Given the description of an element on the screen output the (x, y) to click on. 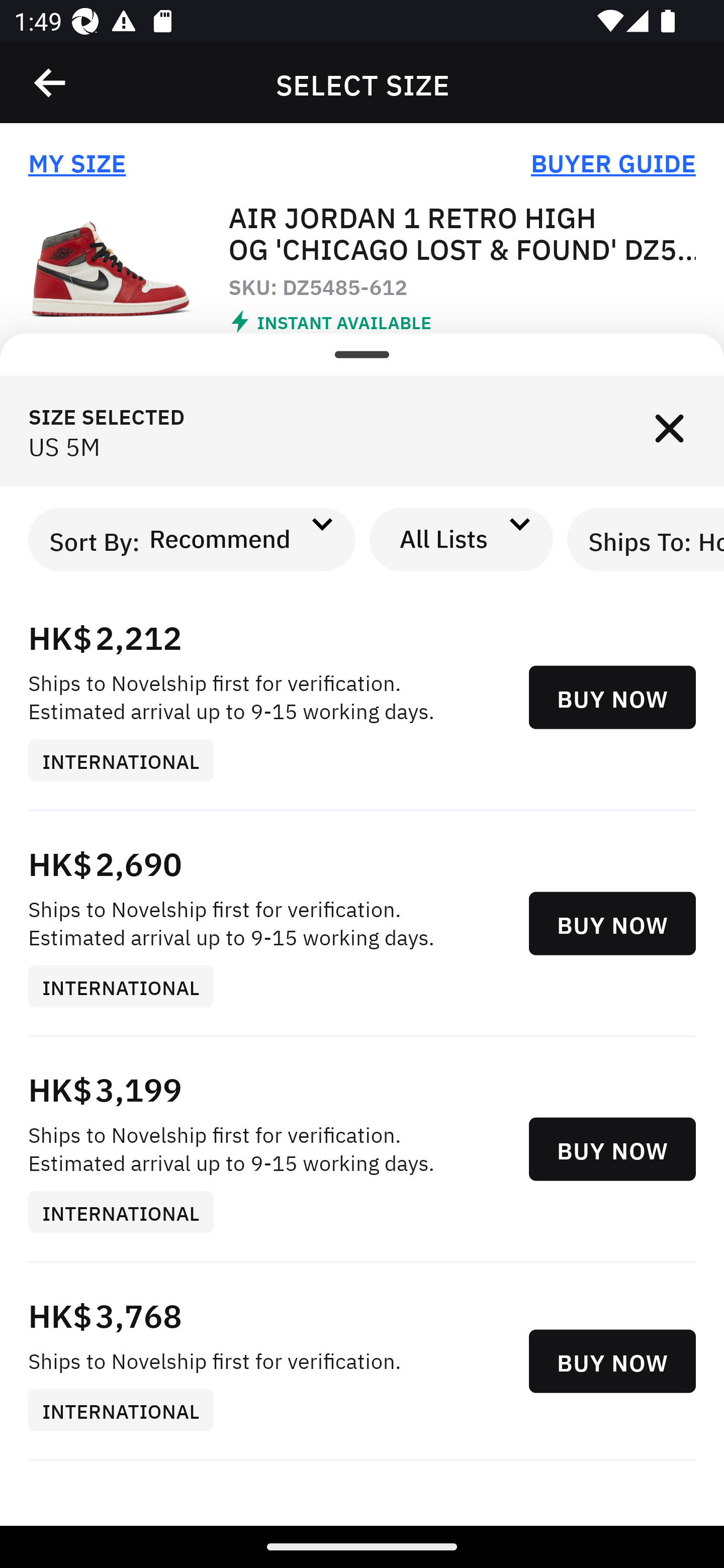
 (50, 83)
 (668, 430)
Recommend  (237, 539)
All Lists  (461, 539)
Ships To: Hong Kong (645, 539)
BUY NOW (612, 697)
INTERNATIONAL (128, 759)
BUY NOW (612, 923)
INTERNATIONAL (128, 986)
BUY NOW (612, 1148)
INTERNATIONAL (128, 1212)
BUY NOW (612, 1360)
INTERNATIONAL (128, 1410)
